Given the description of an element on the screen output the (x, y) to click on. 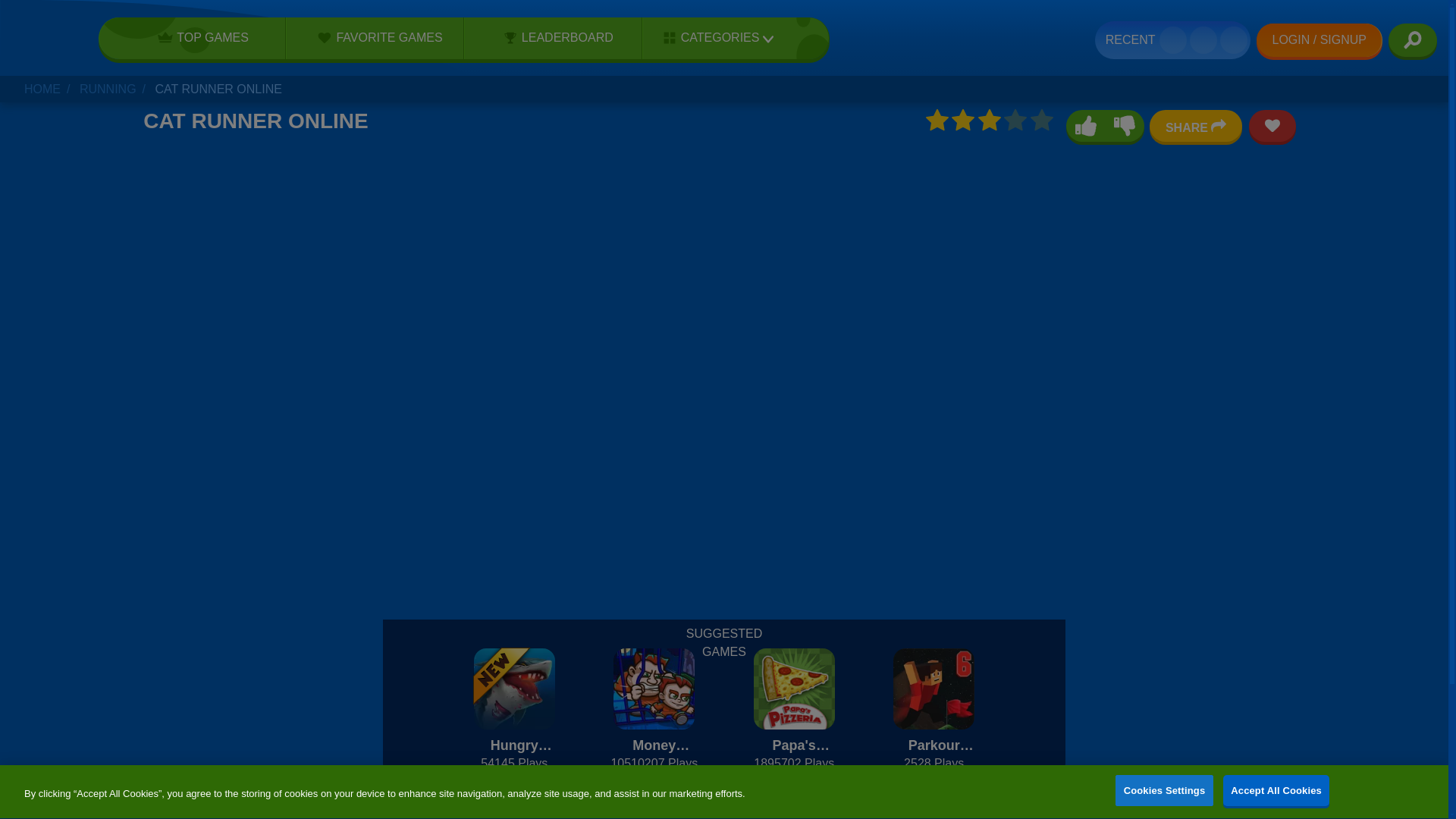
TOP GAMES (197, 37)
FAVORITE GAMES (374, 37)
LEADERBOARD (553, 37)
CATEGORIES (712, 38)
